Given the description of an element on the screen output the (x, y) to click on. 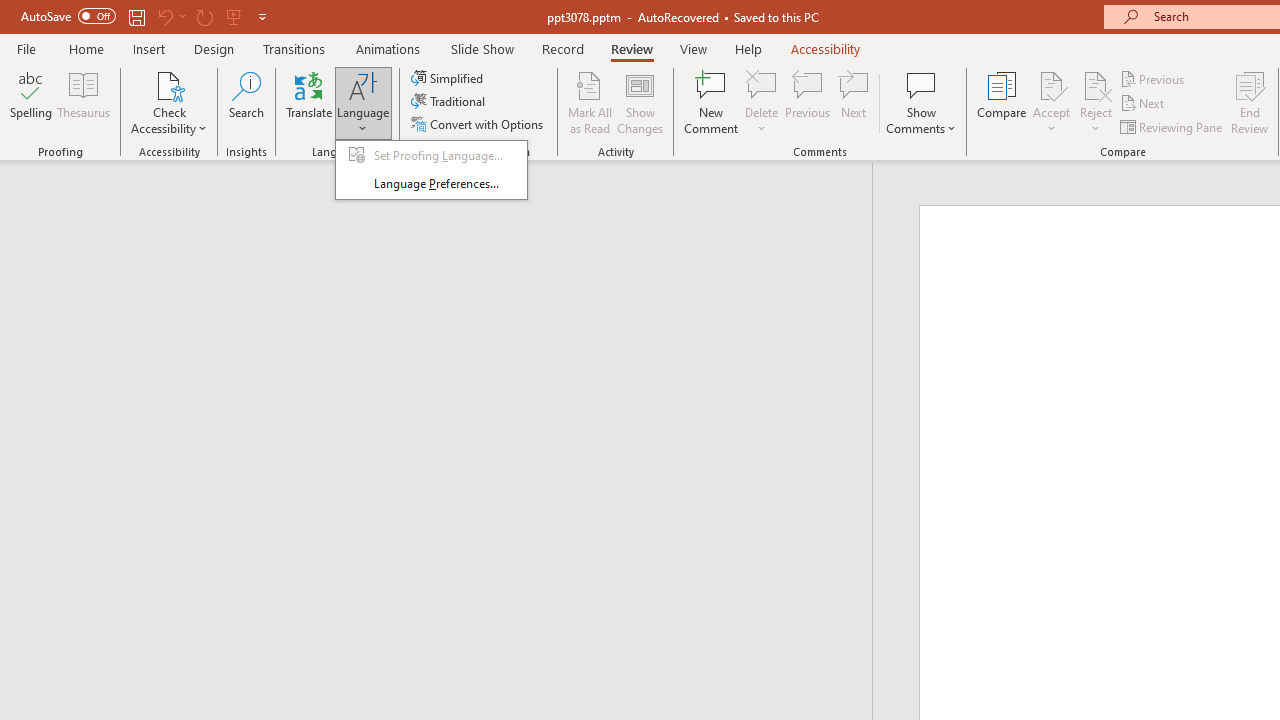
Previous (1153, 78)
New Comment (711, 102)
Spelling... (31, 102)
Show Comments (921, 102)
Next (1144, 103)
Simplified (449, 78)
Reviewing Pane (1172, 126)
